Given the description of an element on the screen output the (x, y) to click on. 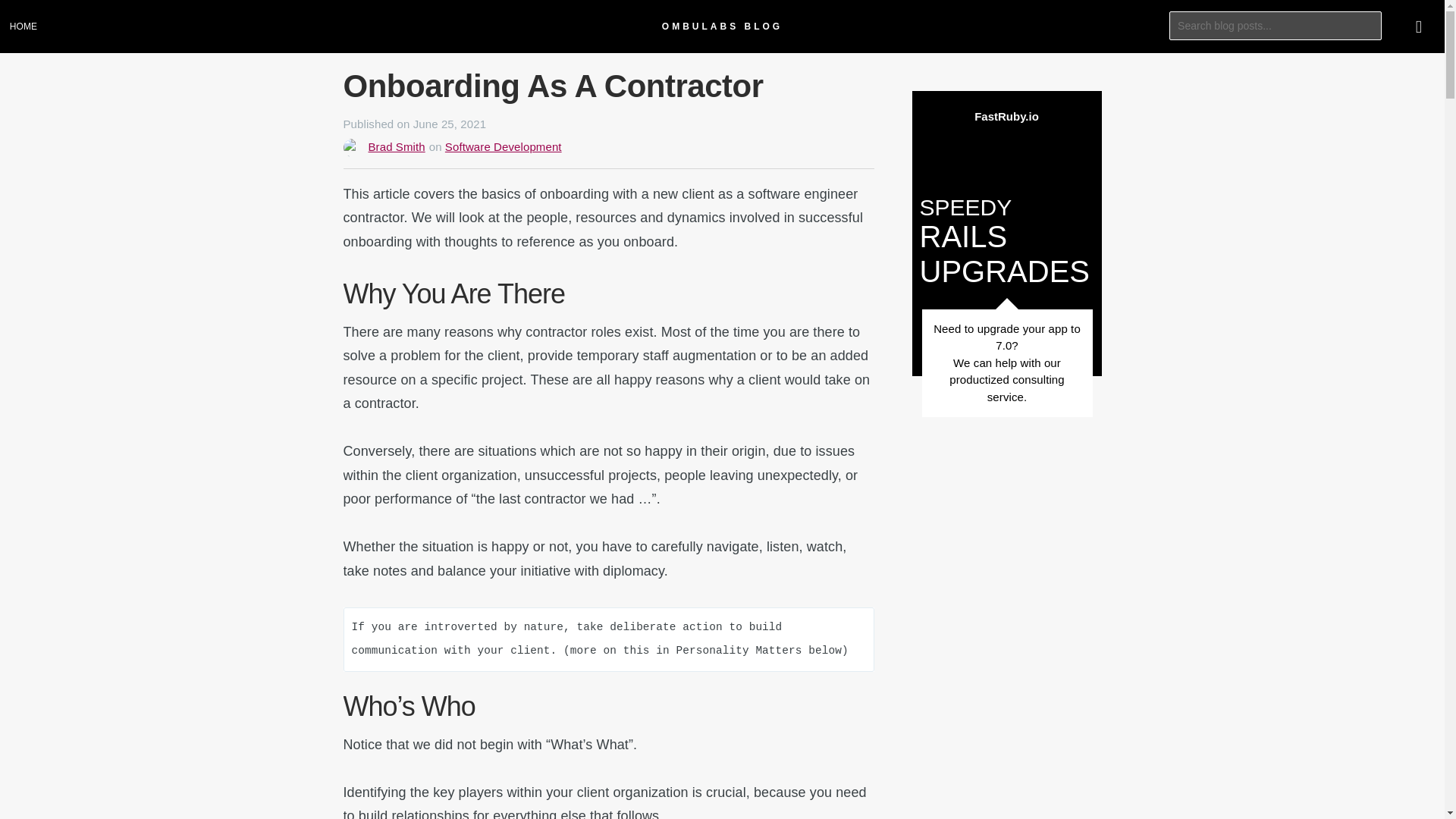
Articles by Brad Smith (396, 146)
HOME (25, 26)
OMBULABS BLOG (722, 26)
Articles about Software Development (503, 146)
Software Development (503, 146)
Brad Smith (396, 146)
